Given the description of an element on the screen output the (x, y) to click on. 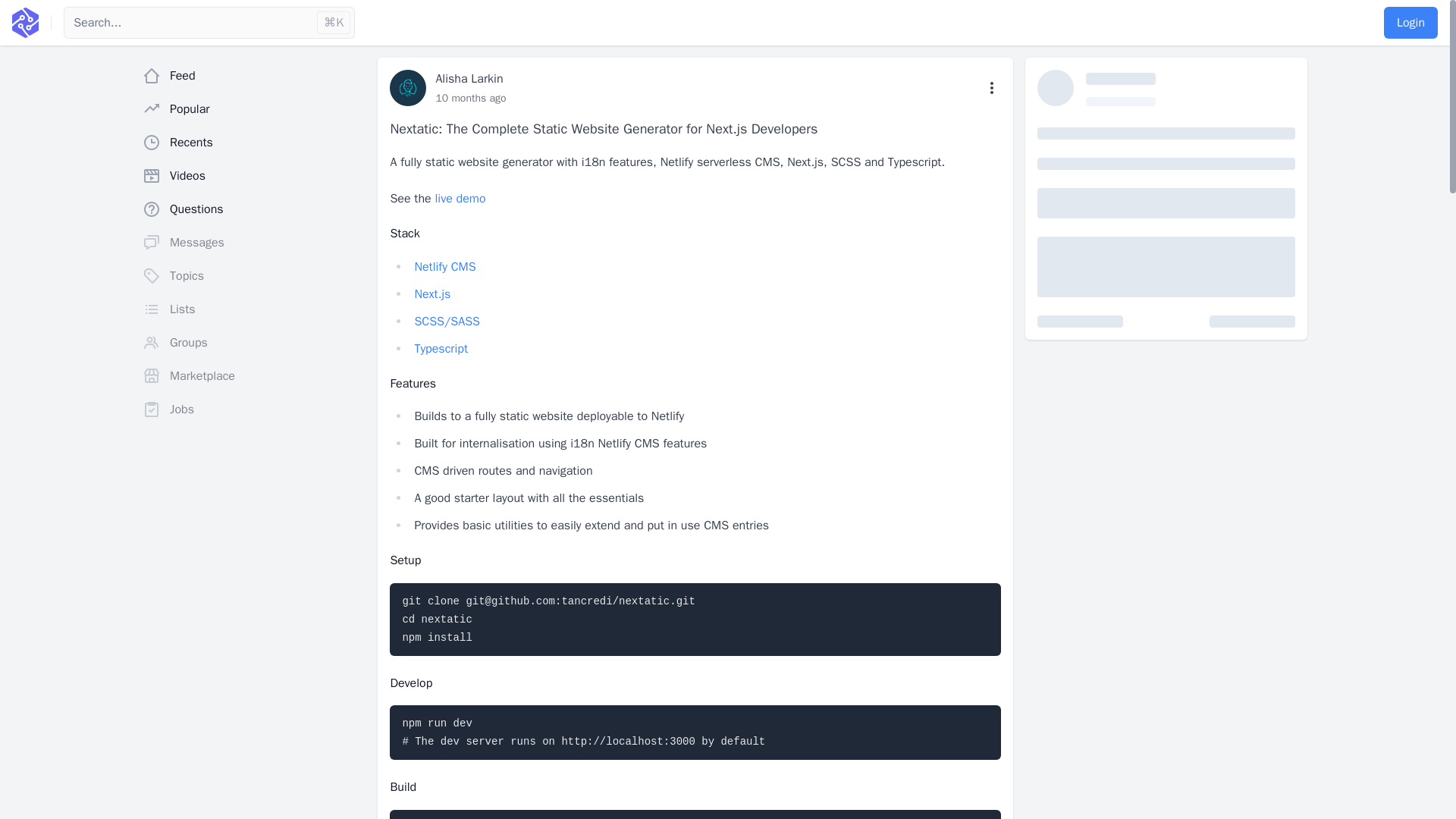
Netlify CMS (444, 266)
Login (1411, 22)
Next.js (431, 294)
Recents (253, 142)
Feed (253, 75)
Popular (253, 109)
Typescript (440, 348)
Open options (991, 87)
Questions (253, 209)
10 months ago (470, 97)
